Given the description of an element on the screen output the (x, y) to click on. 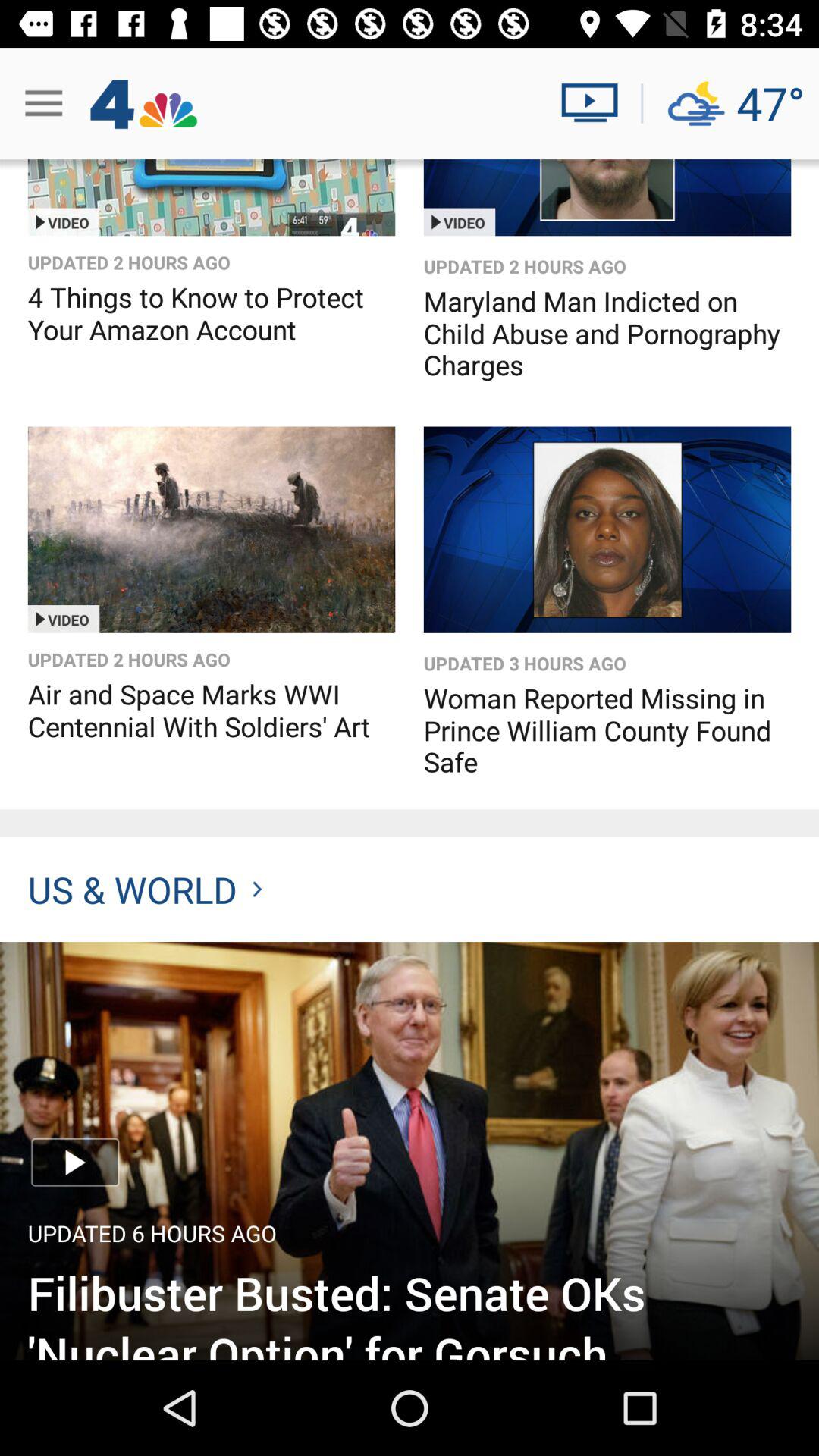
play the video (211, 529)
